Given the description of an element on the screen output the (x, y) to click on. 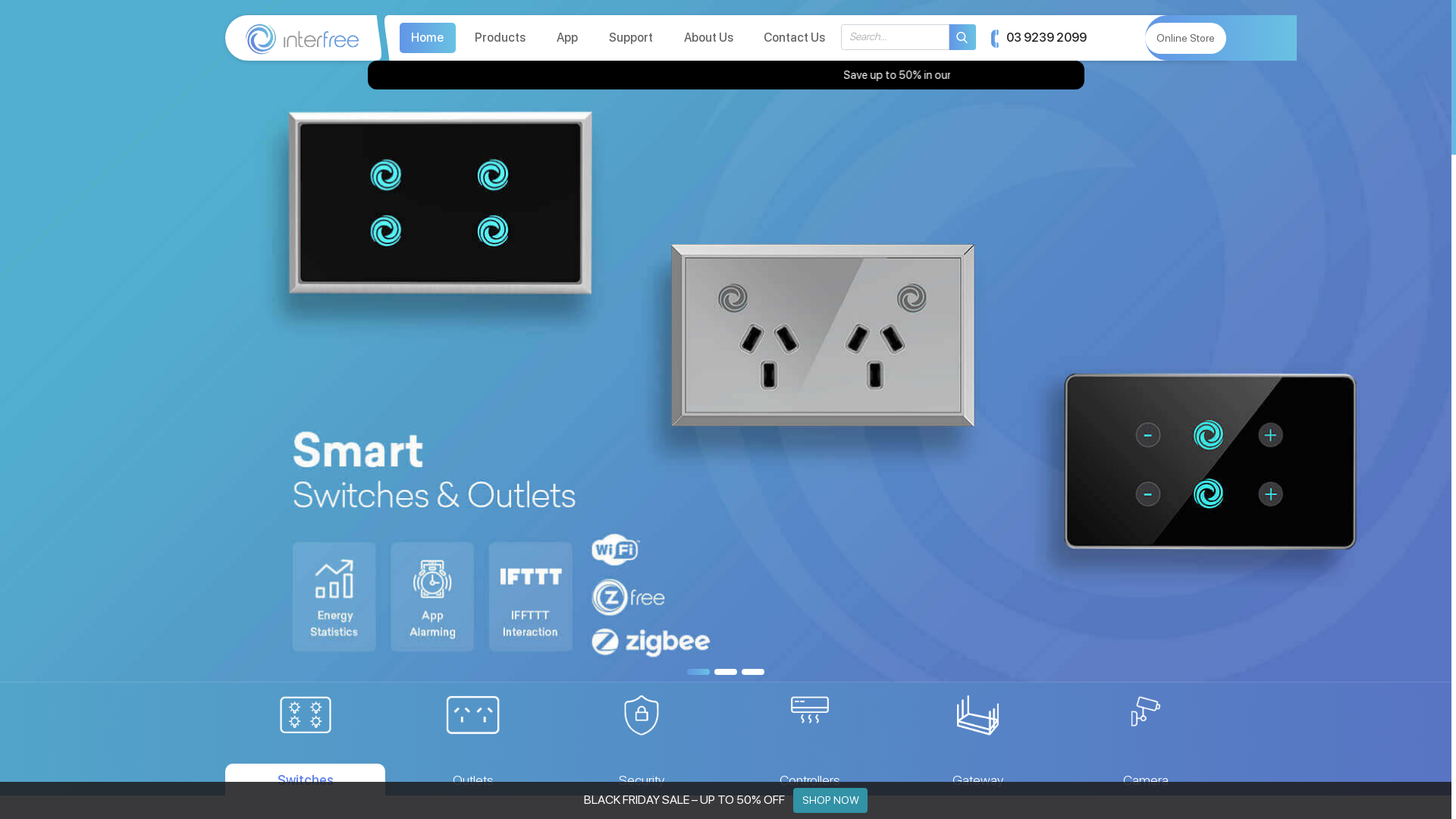
Controllers Element type: text (809, 739)
Contact Us Element type: text (794, 37)
03 9239 2099 Element type: text (1038, 37)
Switches Element type: text (305, 739)
App Element type: text (567, 37)
Camera Element type: text (1146, 739)
Security Element type: text (641, 739)
Support Element type: text (630, 37)
Home Element type: text (427, 37)
Gateway Element type: text (977, 739)
SHOP NOW Element type: text (830, 799)
Products Element type: text (500, 37)
Outlets Element type: text (473, 739)
About Us Element type: text (707, 37)
Online Store Element type: text (1185, 37)
